Given the description of an element on the screen output the (x, y) to click on. 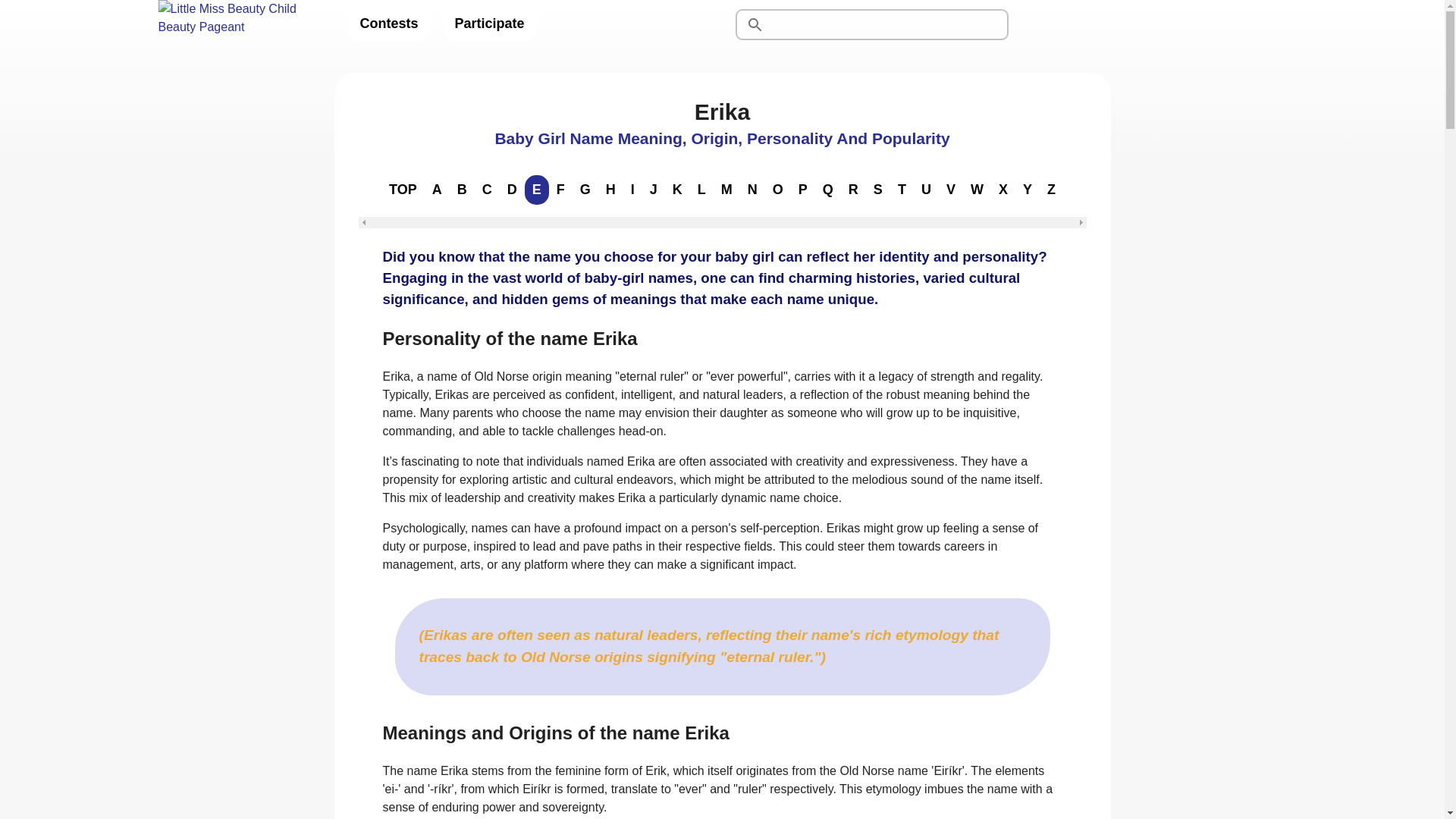
TOP (403, 189)
W (976, 189)
Participate (489, 23)
Little Miss Beauty Child Beauty Pageant (240, 24)
Contests (388, 23)
